Given the description of an element on the screen output the (x, y) to click on. 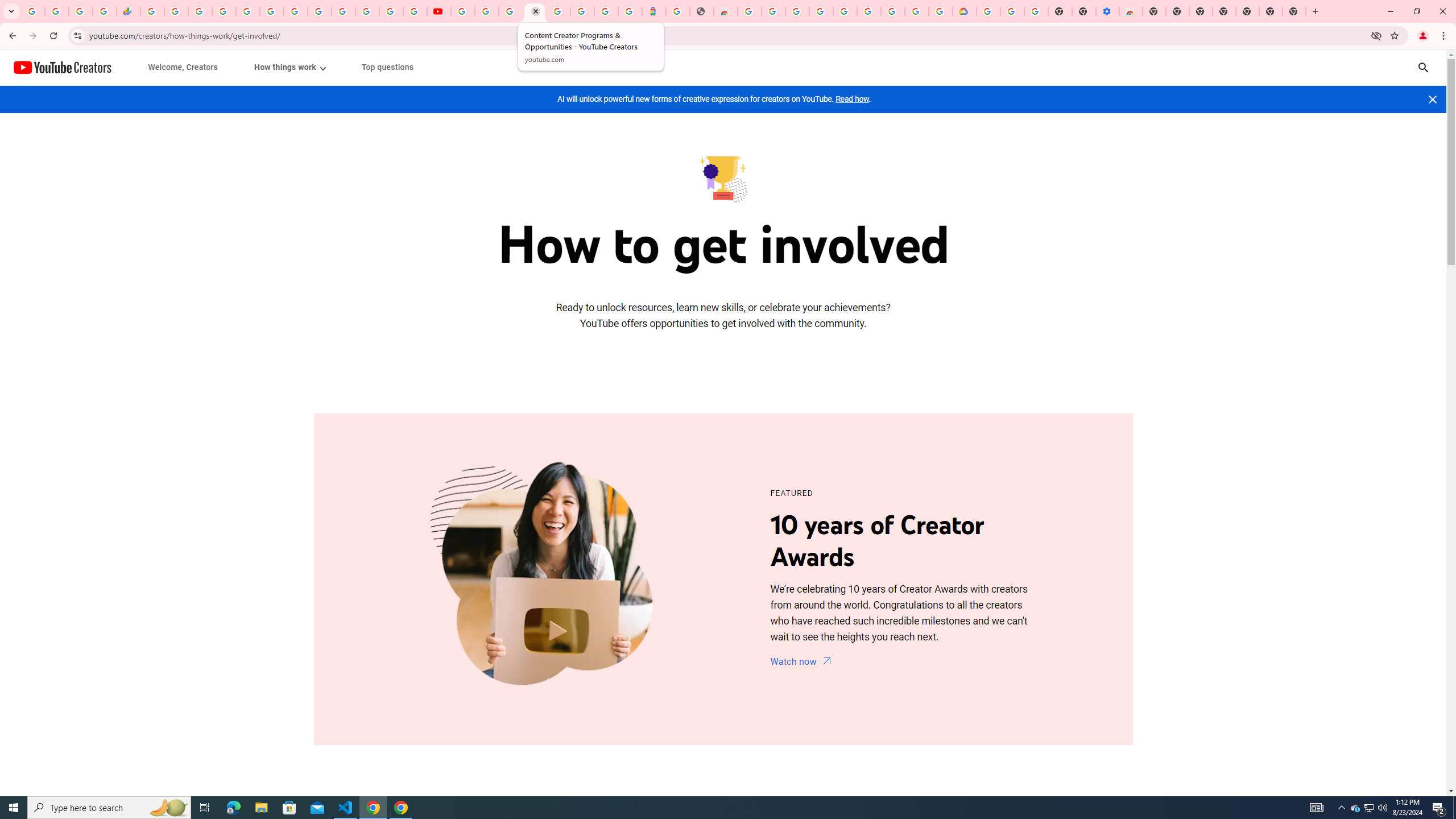
How to get involved (722, 177)
Google Account Help (844, 11)
Sign in - Google Accounts (820, 11)
Google Workspace Admin Community (32, 11)
Sign in - Google Accounts (988, 11)
Privacy Checkup (414, 11)
Content Creator Programs & Opportunities - YouTube Creators (533, 11)
Turn cookies on or off - Computer - Google Account Help (1035, 11)
